Given the description of an element on the screen output the (x, y) to click on. 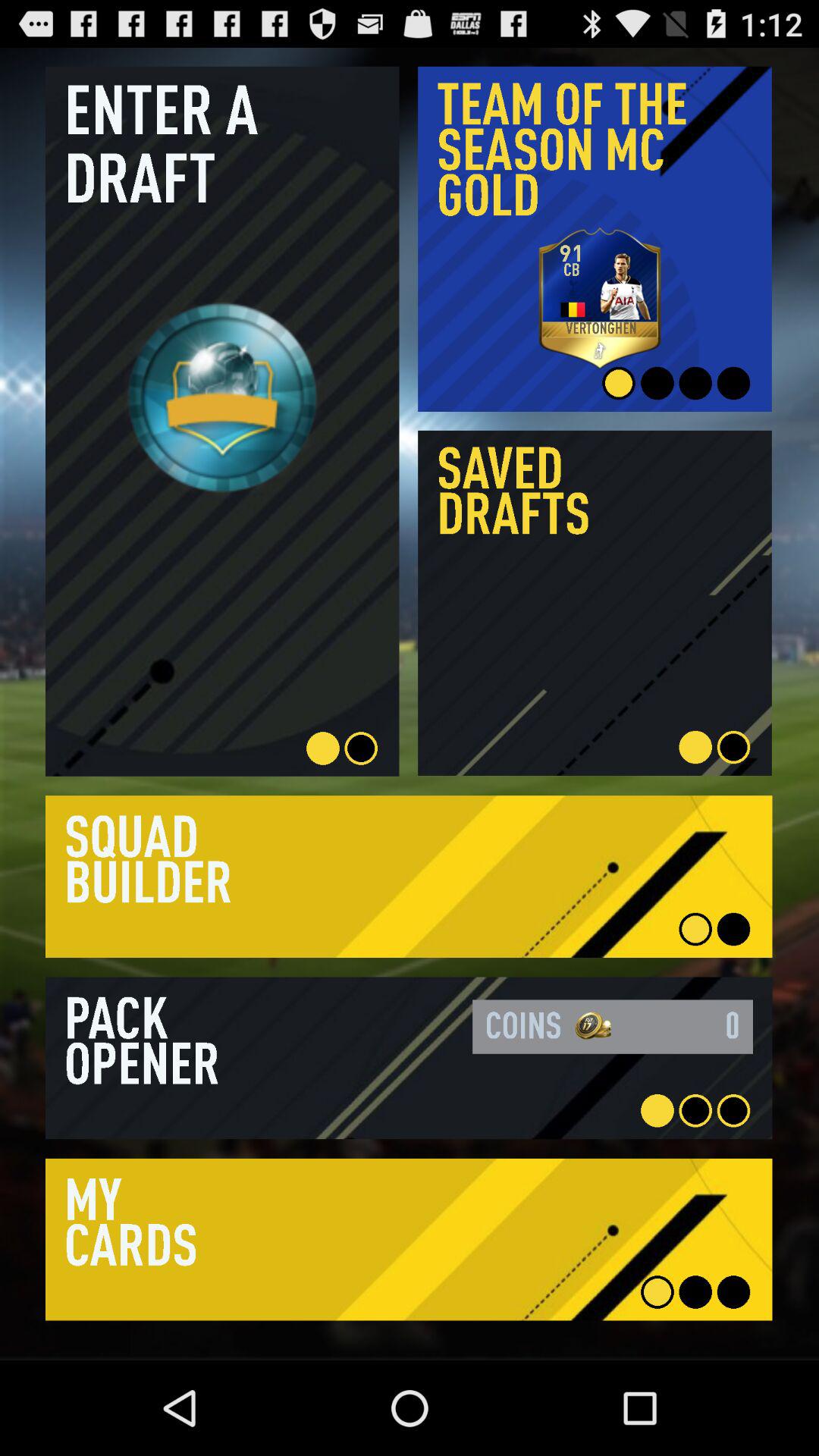
open details of subject (408, 1239)
